Given the description of an element on the screen output the (x, y) to click on. 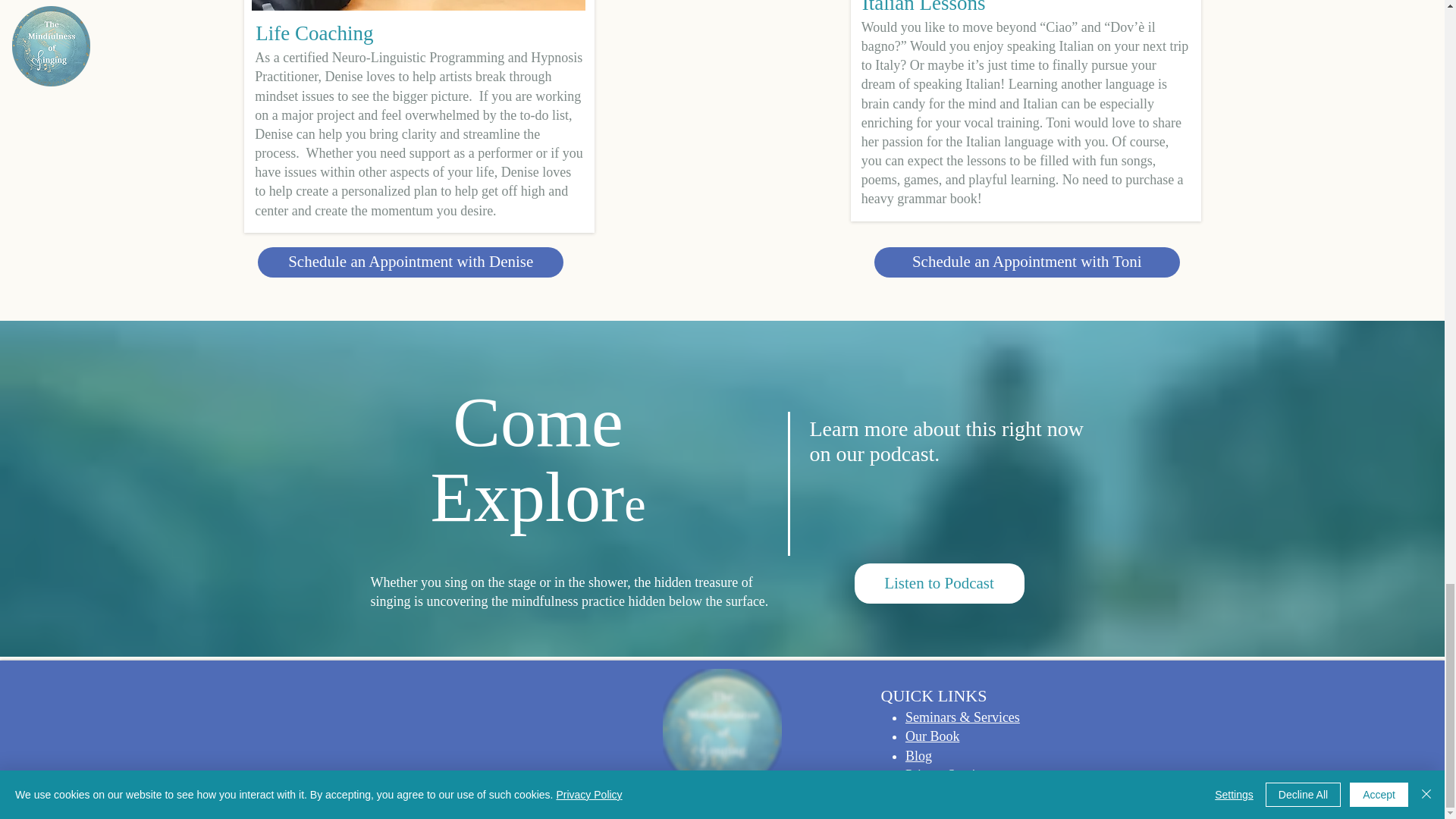
Blog (918, 755)
Terms  (394, 774)
Our Book (932, 735)
Listen to Podcast (938, 583)
Privacy (429, 774)
Private Sessions (949, 774)
Schedule an Appointment with Toni (1027, 262)
Schedule an Appointment with Denise (410, 262)
Petite Taway (465, 802)
Accessibility (476, 774)
